Given the description of an element on the screen output the (x, y) to click on. 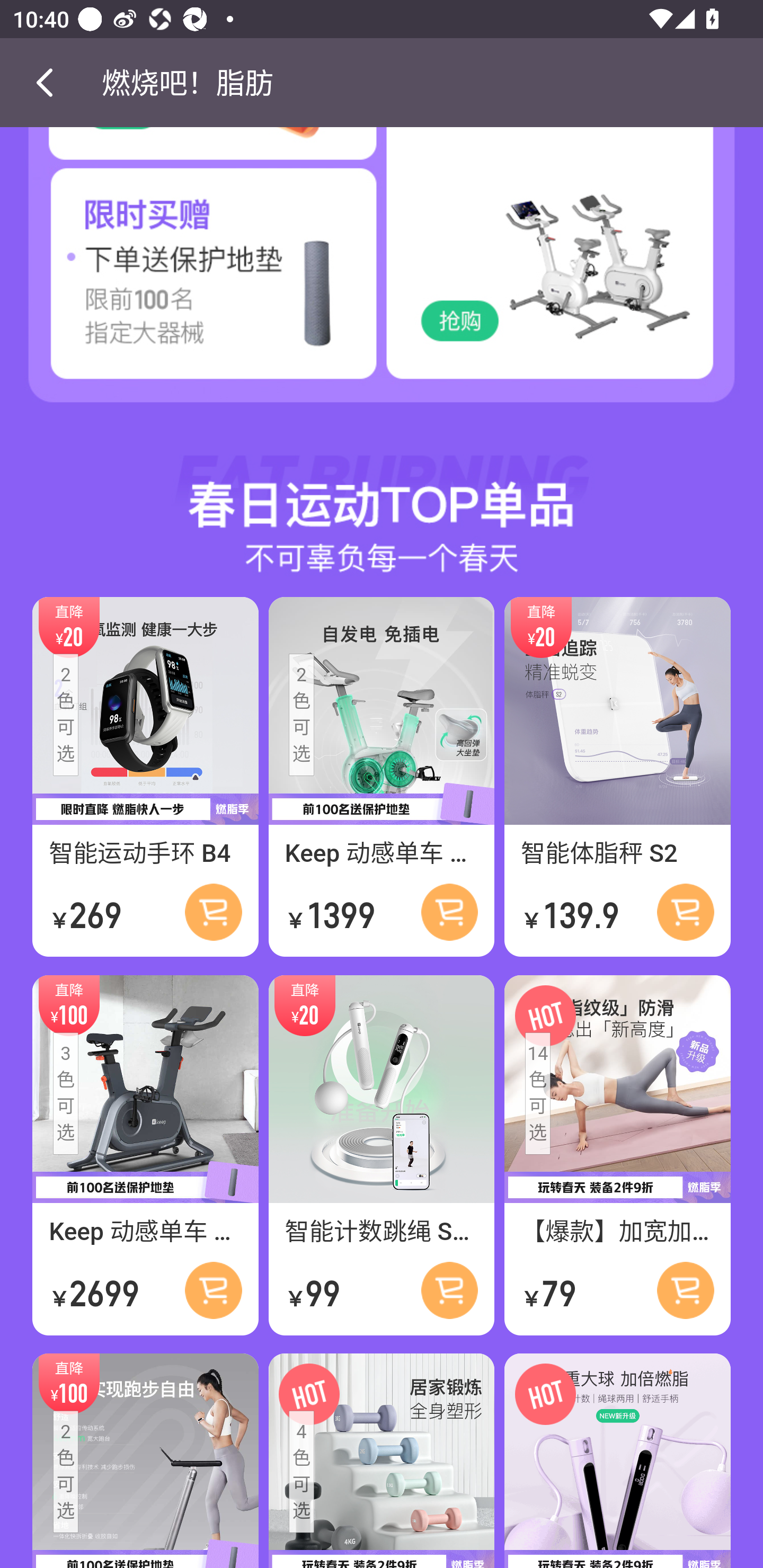
Left Button In Title Bar (50, 82)
1709893563559_375x239 (190, 285)
1709894012951_375x239 (572, 285)
1709893749775_750x168 (381, 490)
直降 ¥20 2色可选 智能运动手环 B4 ￥269 (145, 776)
2色可选 Keep 动感单车 Mini （含自发电版） ￥1399 (381, 776)
直降 ¥20 智能体脂秤 S2 ￥139.9 (616, 776)
直降 ¥100 3色可选 Keep 动感单车 专业版 C1 ￥2699 (145, 1154)
直降 ¥20 智能计数跳绳 SR2 ￥99 (381, 1154)
1617352220003_105x105 14色可选 【爆款】加宽加厚健身垫 ￥79 (616, 1154)
直降 ¥100 2色可选 (145, 1459)
1617352220003_105x105 4色可选 (381, 1459)
1617352220003_105x105 (616, 1459)
